Given the description of an element on the screen output the (x, y) to click on. 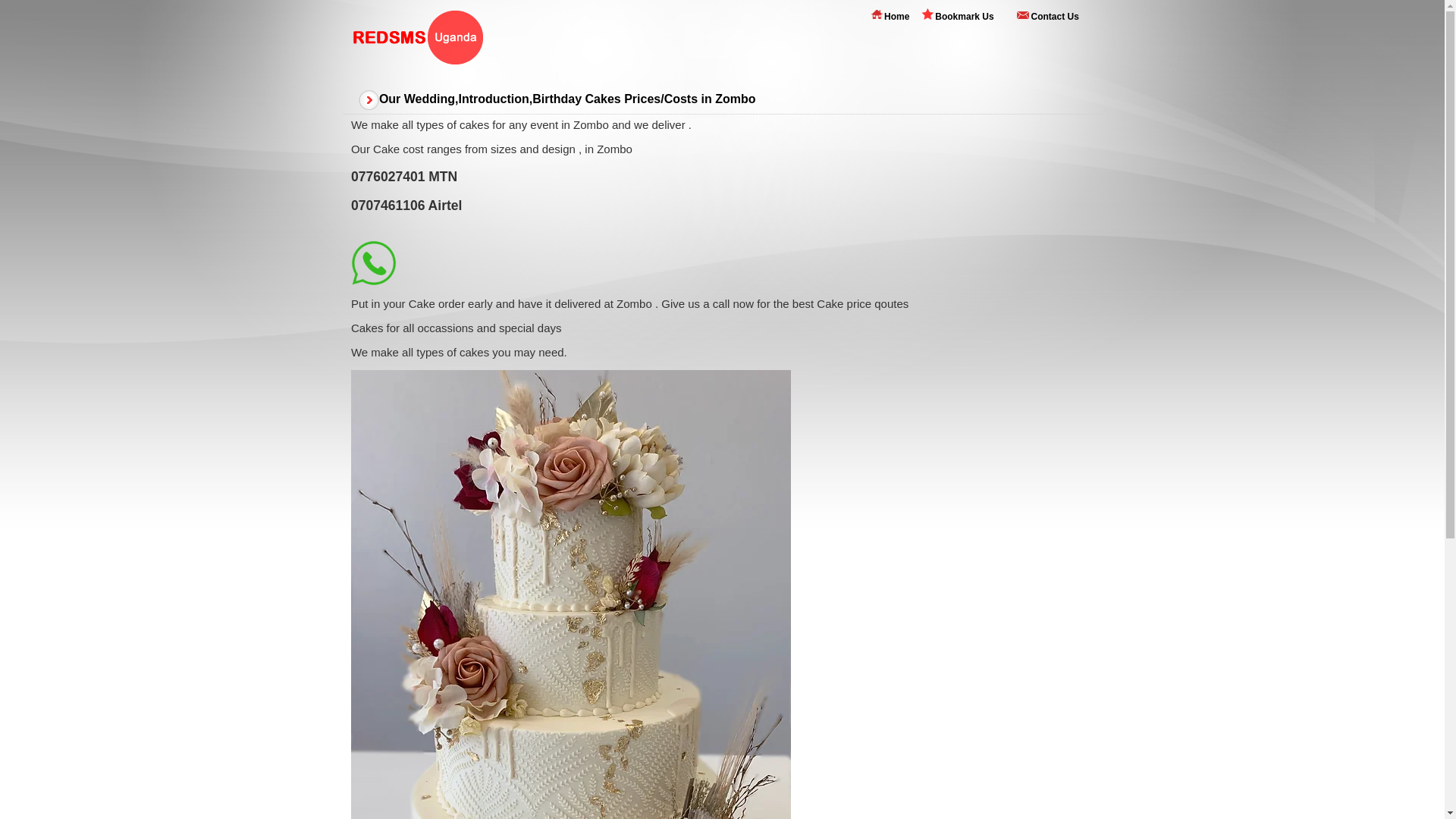
Contact Us (1054, 15)
Bookmark Us (963, 16)
Home (895, 15)
